Given the description of an element on the screen output the (x, y) to click on. 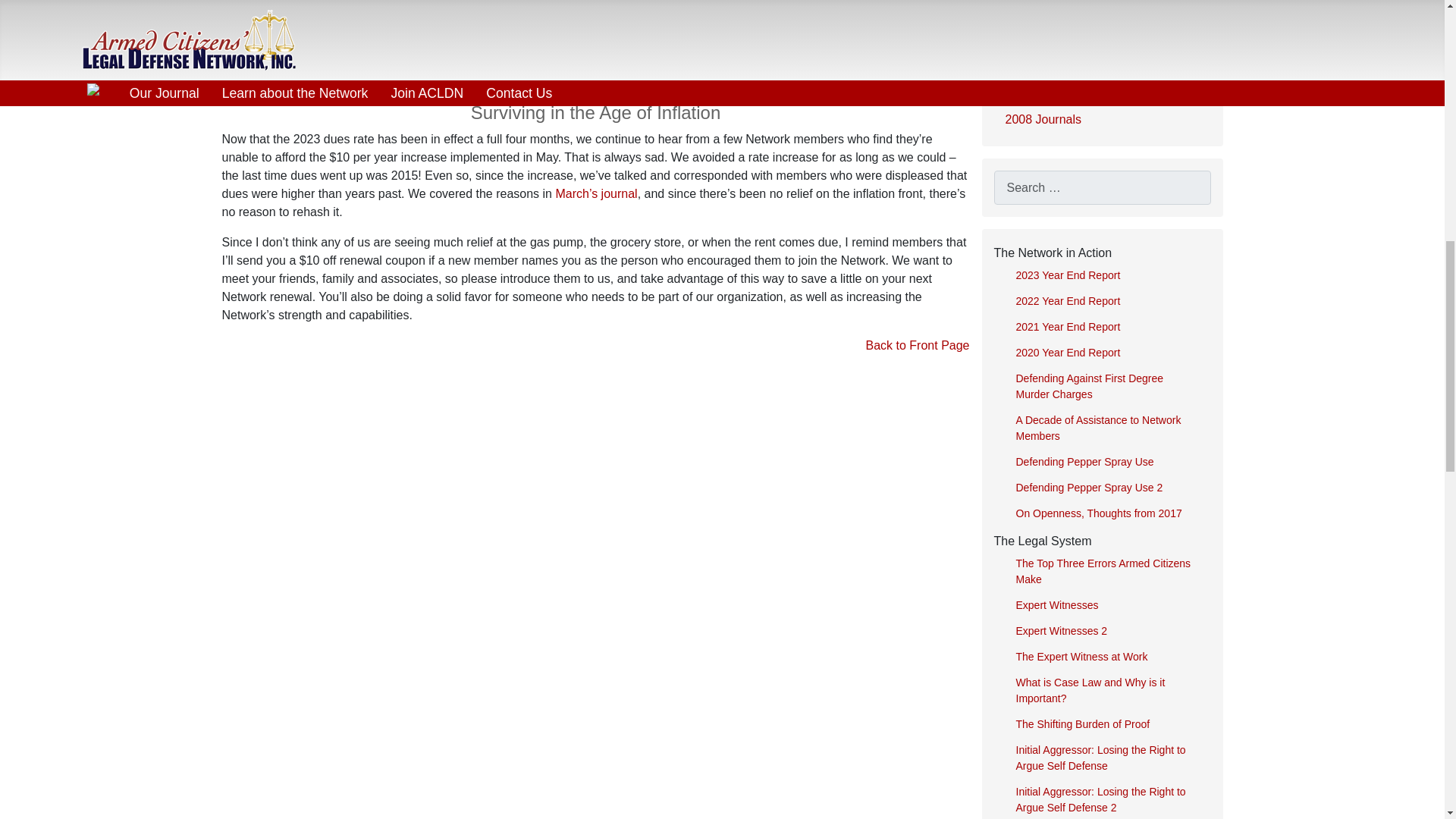
Back to Front Page (917, 345)
2009 Journals (1100, 90)
2012 Journals (1100, 7)
2023 Year End Report (1106, 275)
2008 Journals (1100, 119)
2011 Journals (1100, 33)
2010 Journals (1100, 61)
2021 Year End Report (1106, 326)
2022 Year End Report (1106, 301)
